Given the description of an element on the screen output the (x, y) to click on. 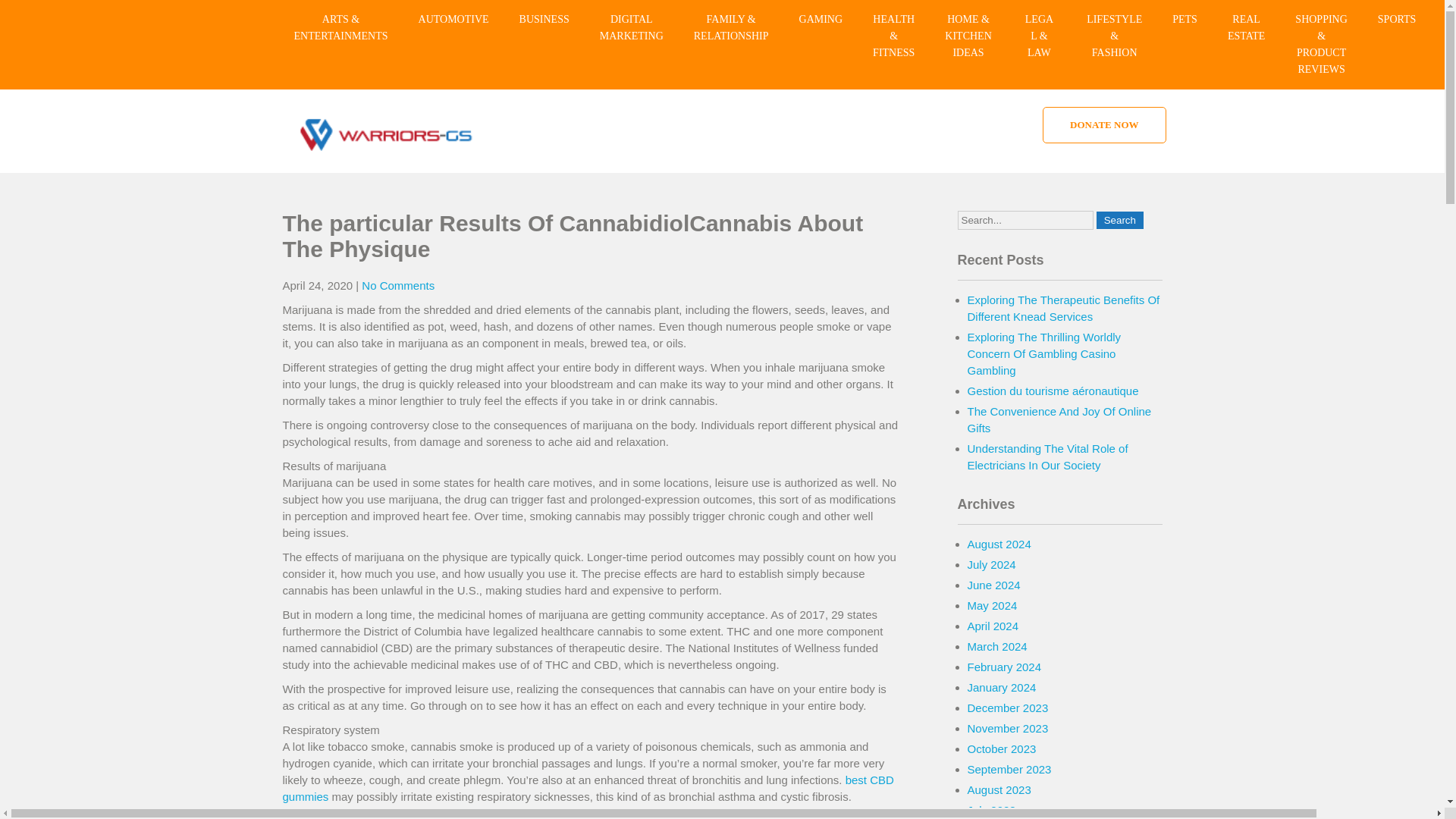
Search (1119, 220)
No Comments (397, 285)
Search (1119, 220)
best CBD gummies (587, 788)
DONATE NOW (1104, 125)
The Convenience And Joy Of Online Gifts (1059, 419)
Search (1119, 220)
PETS (1184, 19)
April 2024 (993, 625)
